Given the description of an element on the screen output the (x, y) to click on. 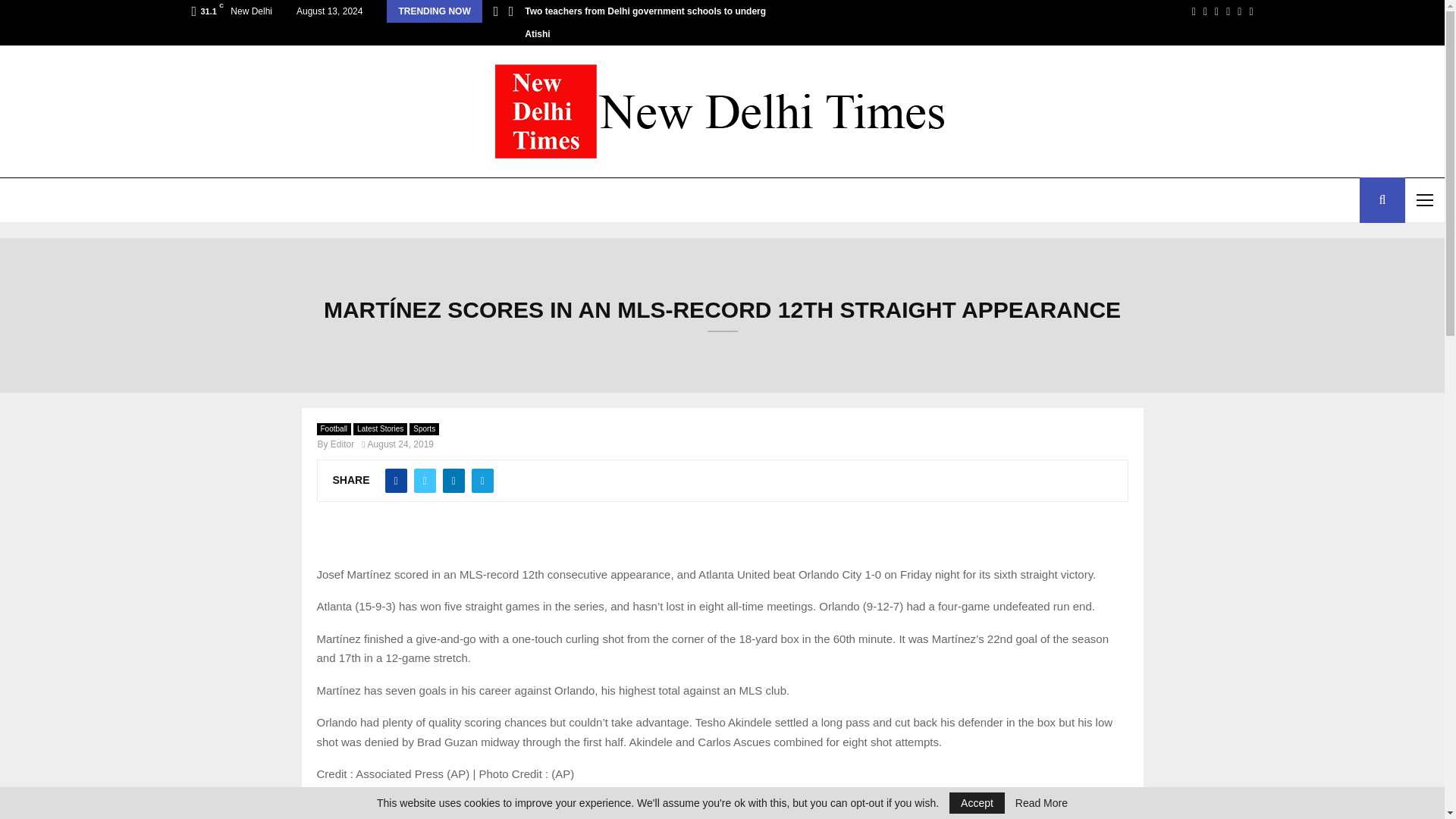
Click to print (359, 807)
Click to share on Facebook (389, 807)
Click to share on LinkedIn (419, 807)
Click to email a link to a friend (328, 807)
